Given the description of an element on the screen output the (x, y) to click on. 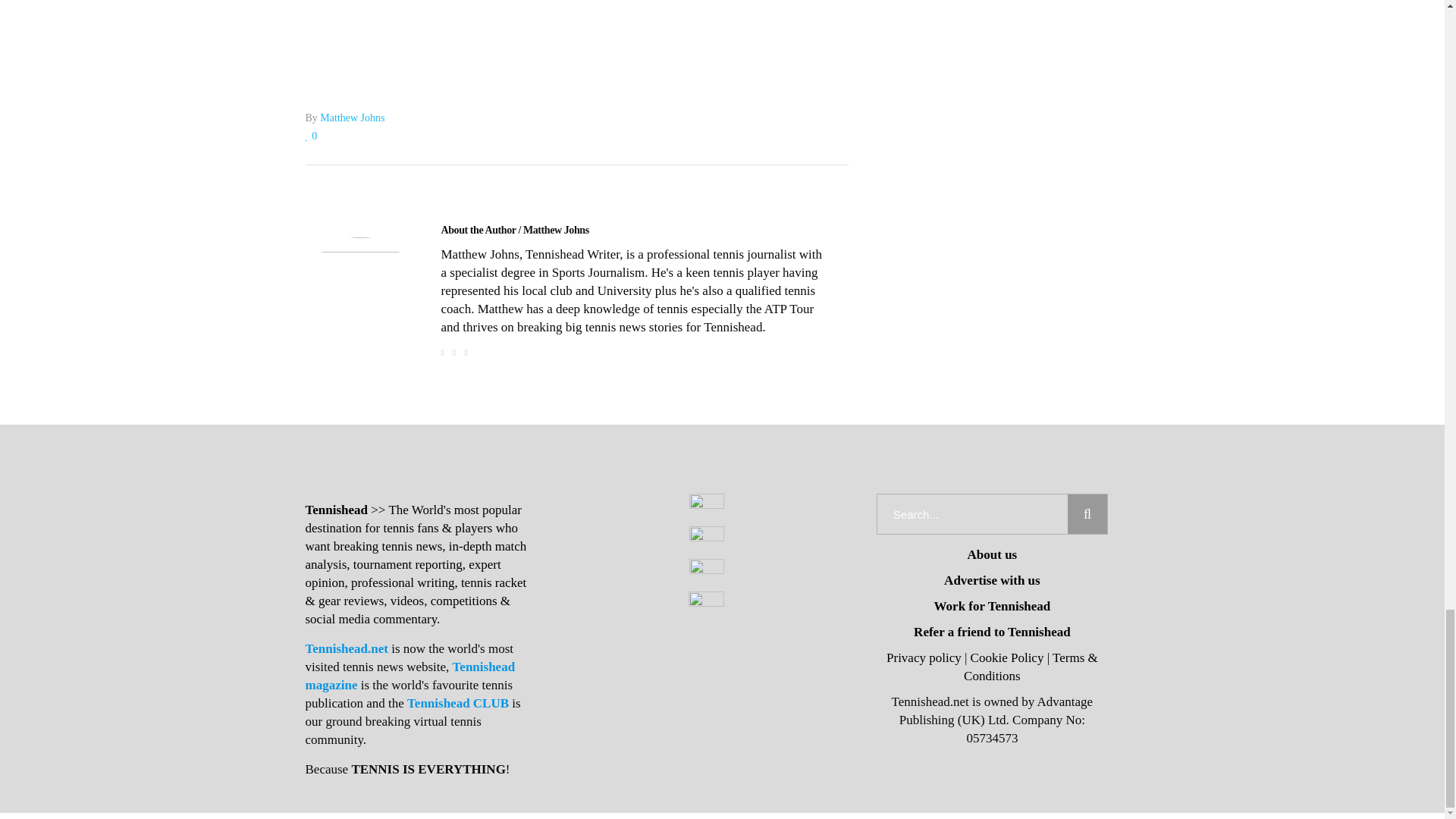
Like this (310, 135)
Search for: (972, 513)
TNNS Live Scores (576, 22)
